Given the description of an element on the screen output the (x, y) to click on. 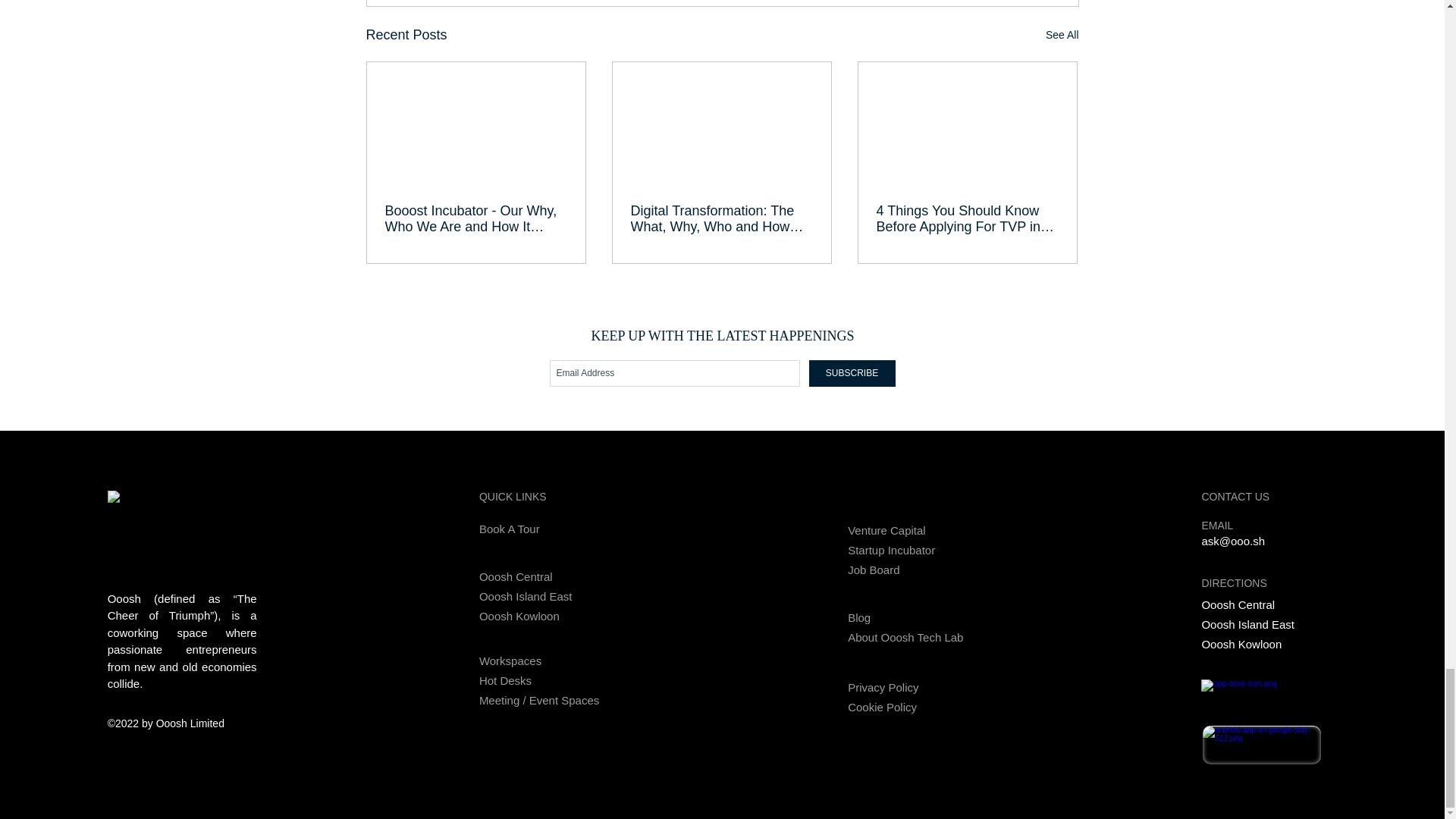
Booost Incubator - Our Why, Who We Are and How It Works. (476, 219)
See All (1061, 34)
